Given the description of an element on the screen output the (x, y) to click on. 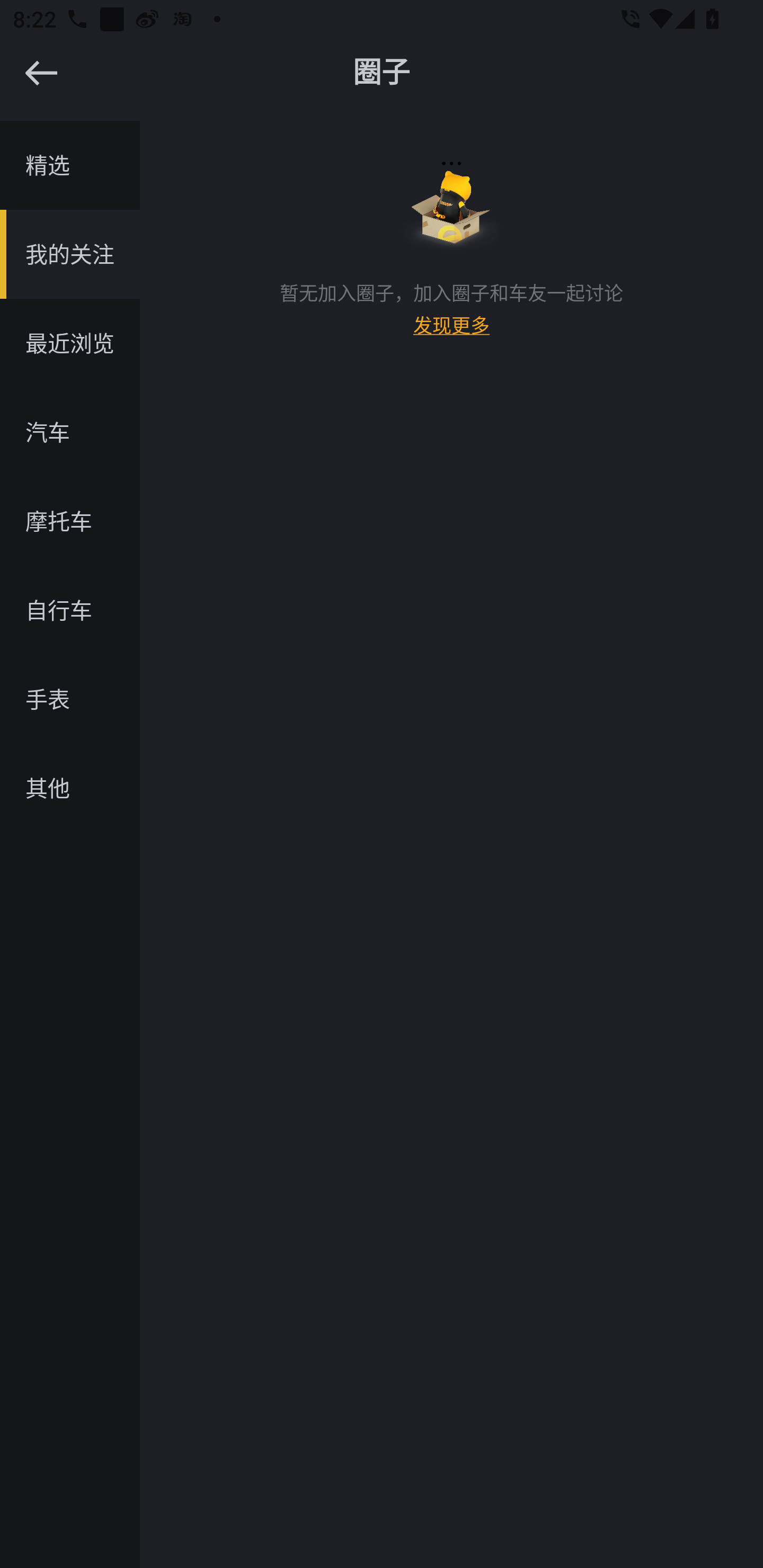
精选 (69, 165)
我的关注 (69, 254)
最近浏览 (69, 343)
发现更多 (451, 333)
汽车 (69, 431)
摩托车 (69, 521)
自行车 (69, 610)
手表 (69, 699)
其他 (69, 787)
